Given the description of an element on the screen output the (x, y) to click on. 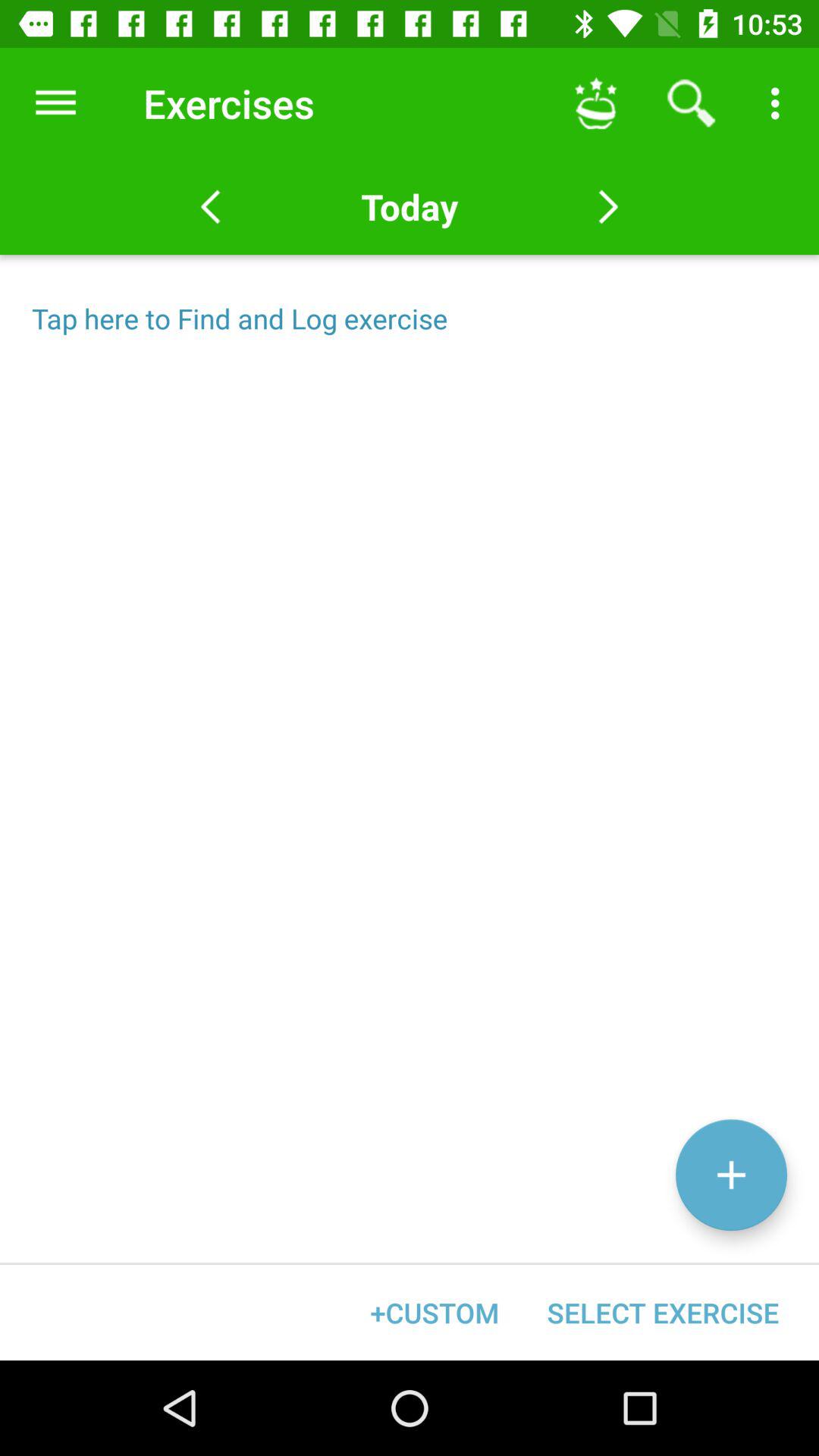
turn on today (409, 206)
